Given the description of an element on the screen output the (x, y) to click on. 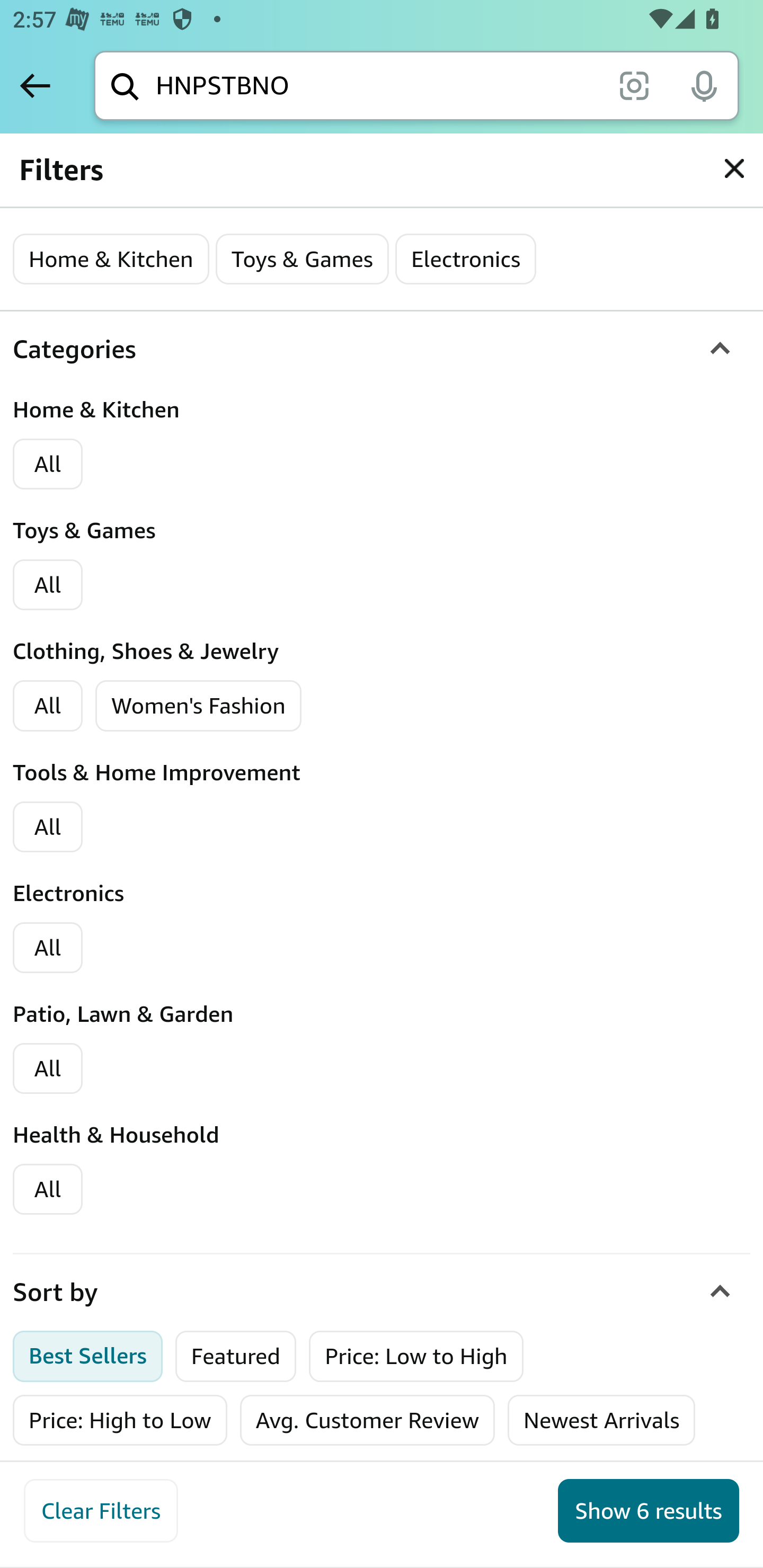
Back (35, 85)
scan it (633, 85)
Home & Kitchen (110, 258)
Toys & Games (301, 258)
Electronics (465, 258)
Categories (381, 349)
All (47, 464)
All (47, 585)
All (47, 706)
Women's Fashion (198, 706)
All (47, 826)
All (47, 947)
All (47, 1068)
All (47, 1189)
Sort by (381, 1292)
Featured (235, 1355)
Price: Low to High (416, 1355)
Price: High to Low (119, 1419)
Avg. Customer Review (366, 1419)
Newest Arrivals (601, 1419)
Clear Filters (100, 1510)
Show 6 results (648, 1510)
